Given the description of an element on the screen output the (x, y) to click on. 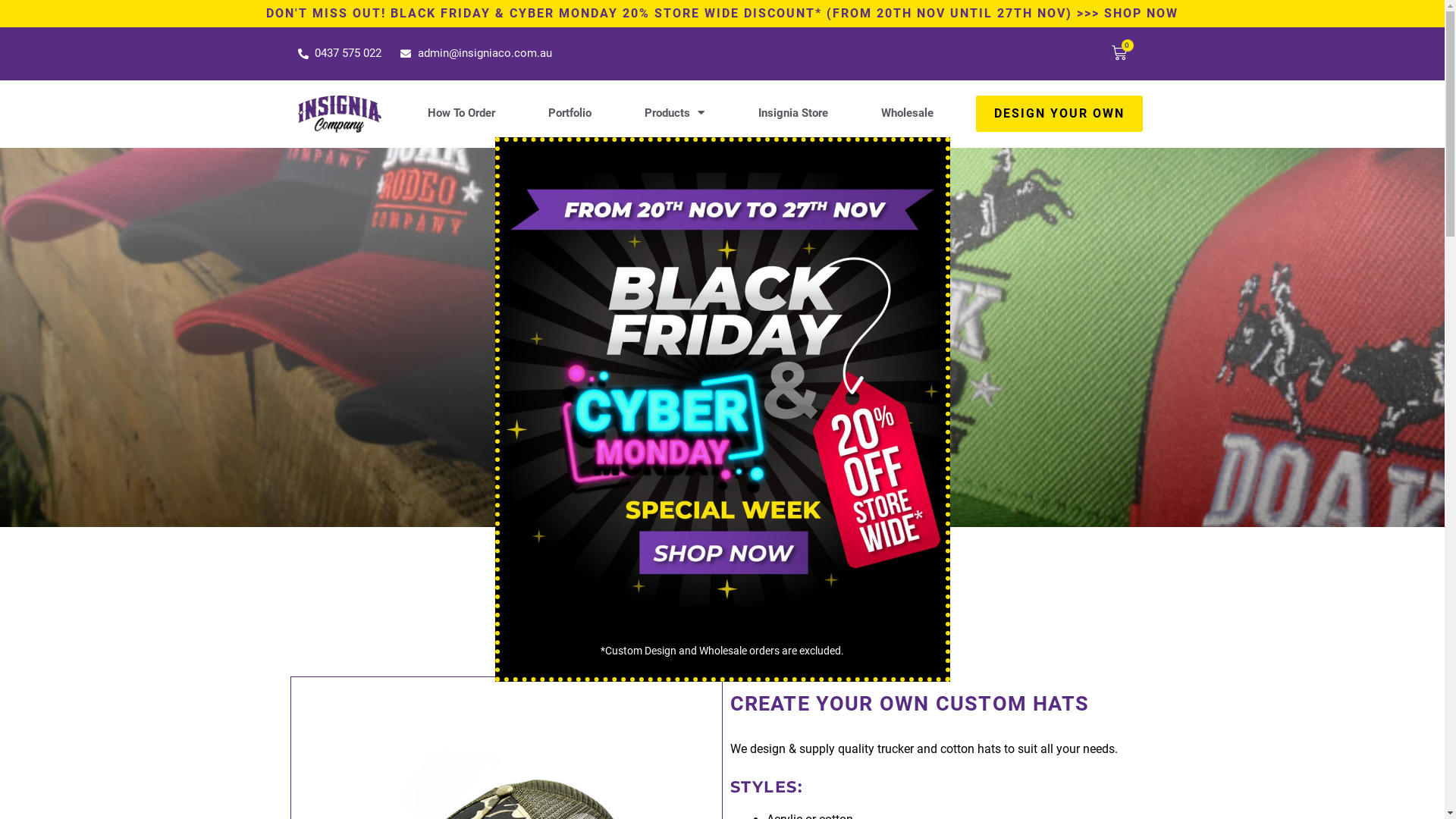
Products Element type: text (674, 112)
How To Order Element type: text (461, 112)
0437 575 022 Element type: text (339, 53)
Insignia Store Element type: text (792, 112)
Portfolio Element type: text (569, 112)
0
CART Element type: text (1119, 53)
Wholesale Element type: text (907, 112)
admin@insigniaco.com.au Element type: text (476, 53)
DESIGN YOUR OWN Element type: text (1058, 113)
